Given the description of an element on the screen output the (x, y) to click on. 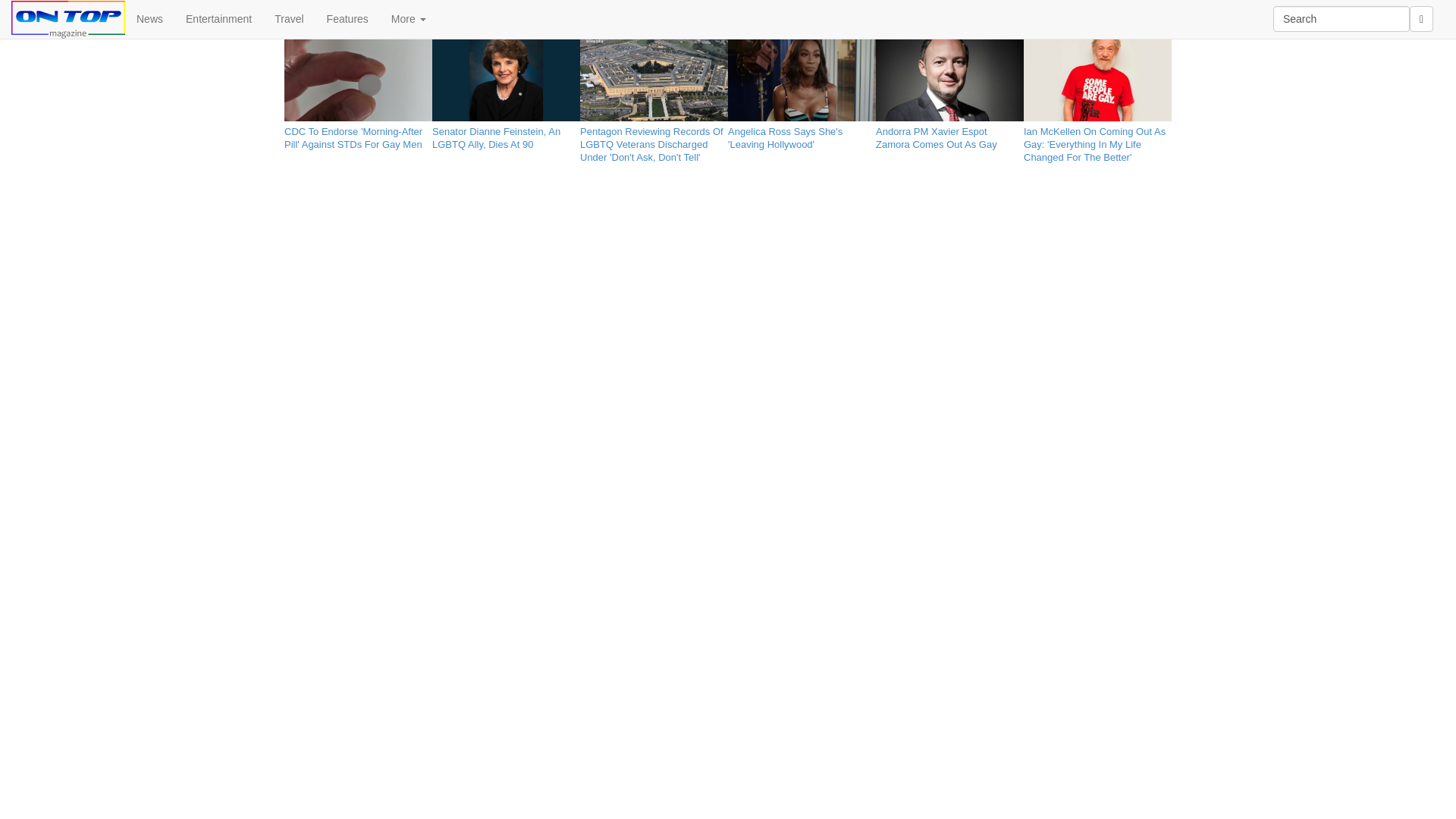
Features (347, 18)
Andorra PM Xavier Espot Zamora Comes Out As Gay (949, 135)
News (149, 18)
Entertainment (218, 18)
CDC To Endorse 'Morning-After Pill' Against STDs For Gay Men (357, 135)
Senator Dianne Feinstein, An LGBTQ Ally, Dies At 90 (505, 135)
More (409, 18)
Travel (288, 18)
